Given the description of an element on the screen output the (x, y) to click on. 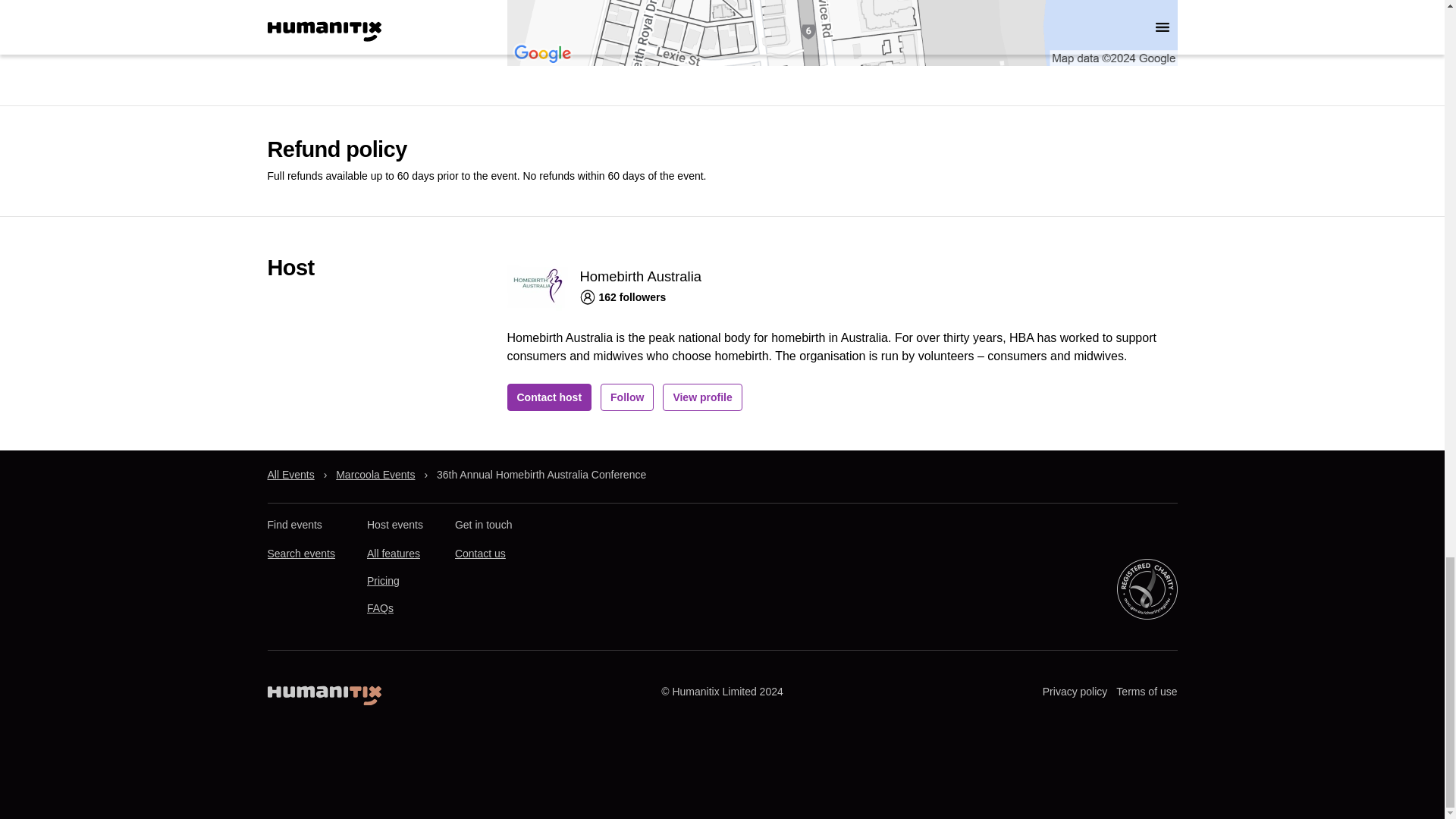
Contact host (548, 397)
All Events (290, 474)
Follow (626, 397)
View profile (701, 397)
Marcoola Events (375, 474)
